Given the description of an element on the screen output the (x, y) to click on. 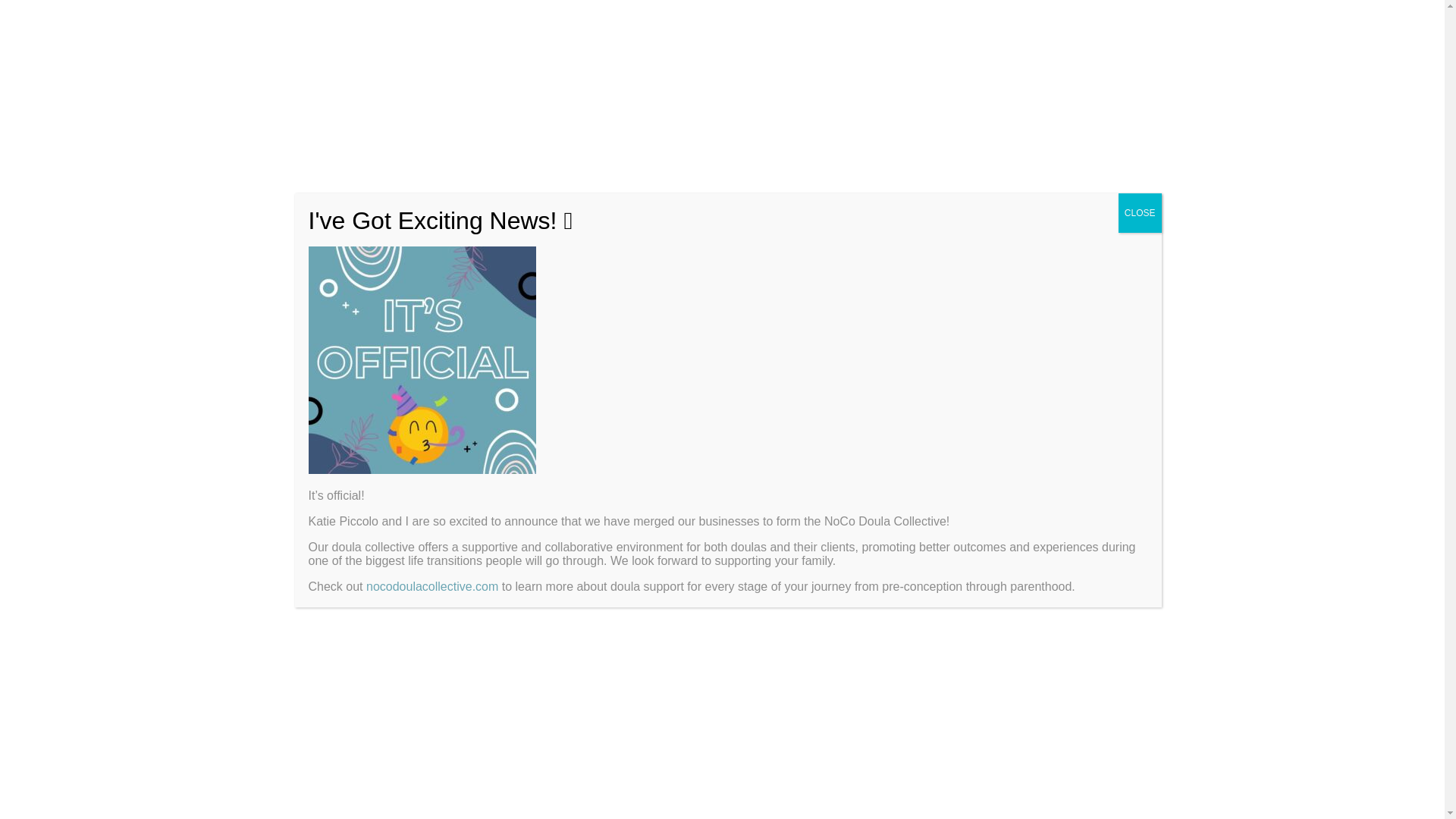
BLOG (1078, 122)
Posts by Julianne Curtis (368, 349)
GALLERIES (946, 122)
CONTACT (727, 153)
Search (1112, 228)
VIRTUAL CLASSES (607, 122)
DOULA TRAINING (729, 122)
DOULA SERVICES (477, 122)
PAY (1024, 122)
RESOURCES (841, 122)
